Given the description of an element on the screen output the (x, y) to click on. 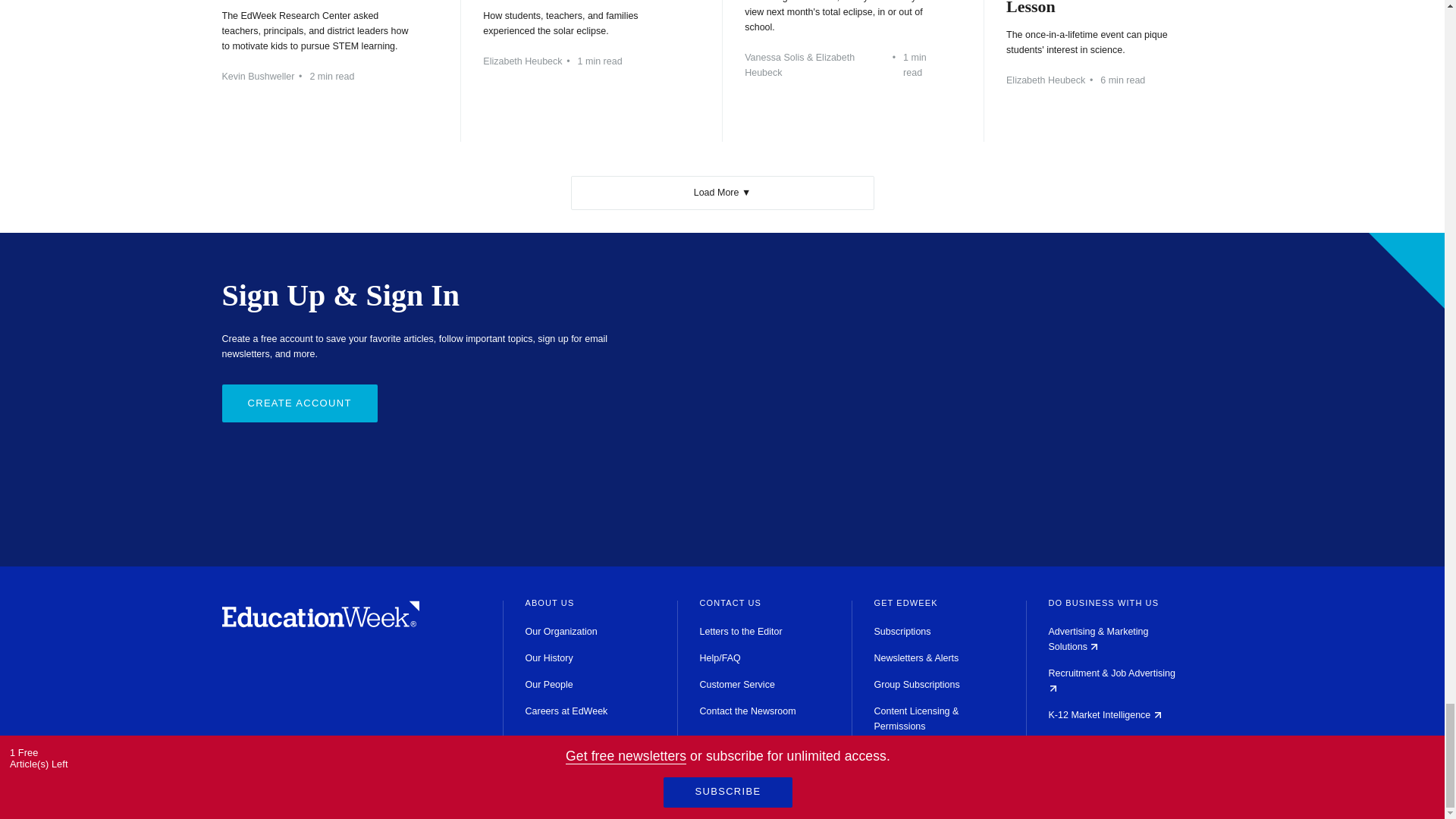
Homepage (320, 623)
